Given the description of an element on the screen output the (x, y) to click on. 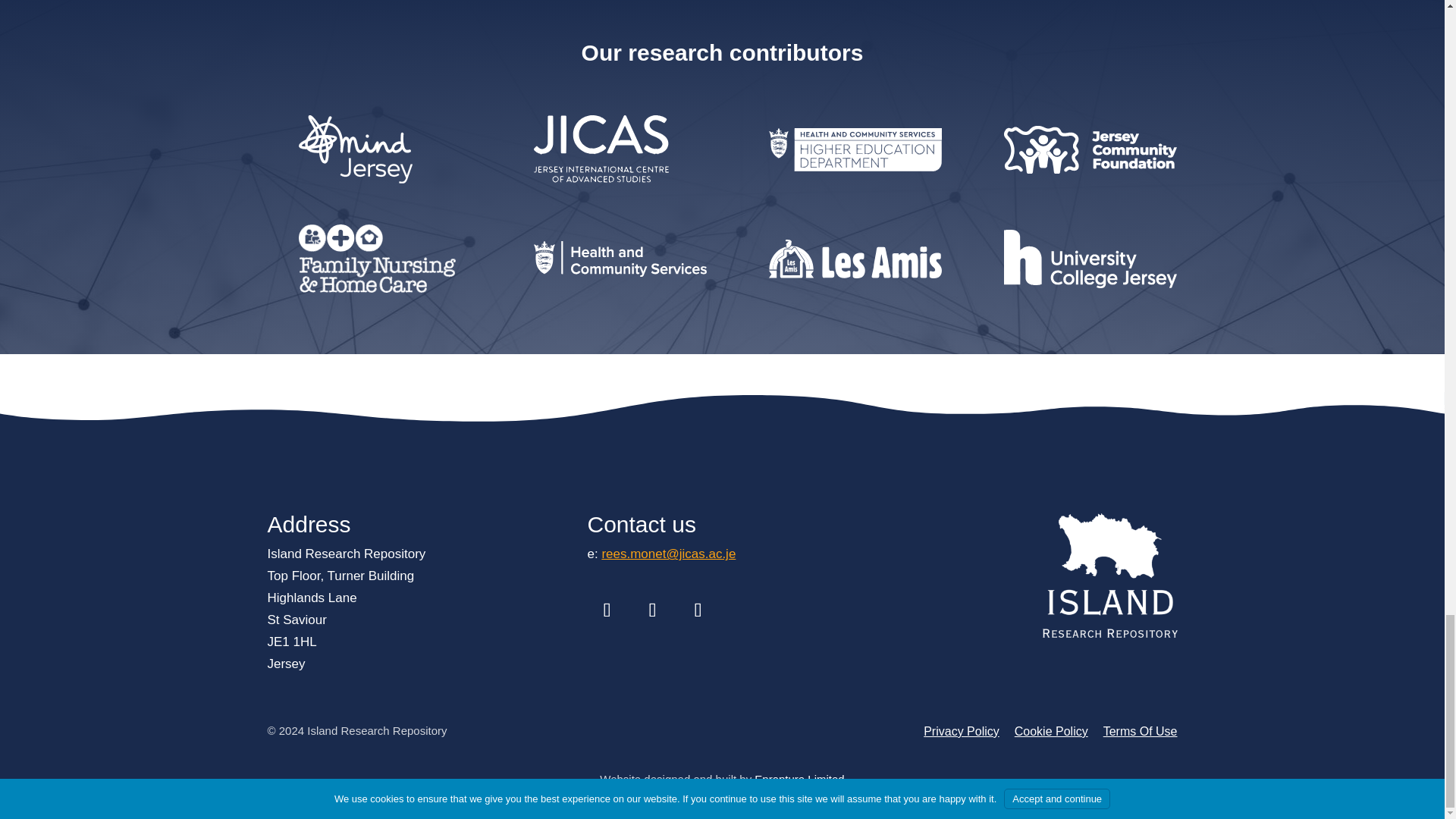
JICAS White2 (601, 149)
HCS HED White2 (855, 148)
Follow on Facebook (606, 609)
Les Amis White2 (855, 258)
Follow on X (651, 609)
UCJ White2 (1090, 259)
Follow on Instagram (697, 609)
FNHC White2 (376, 258)
HCS White2 (620, 258)
Mind White2 (355, 149)
